Given the description of an element on the screen output the (x, y) to click on. 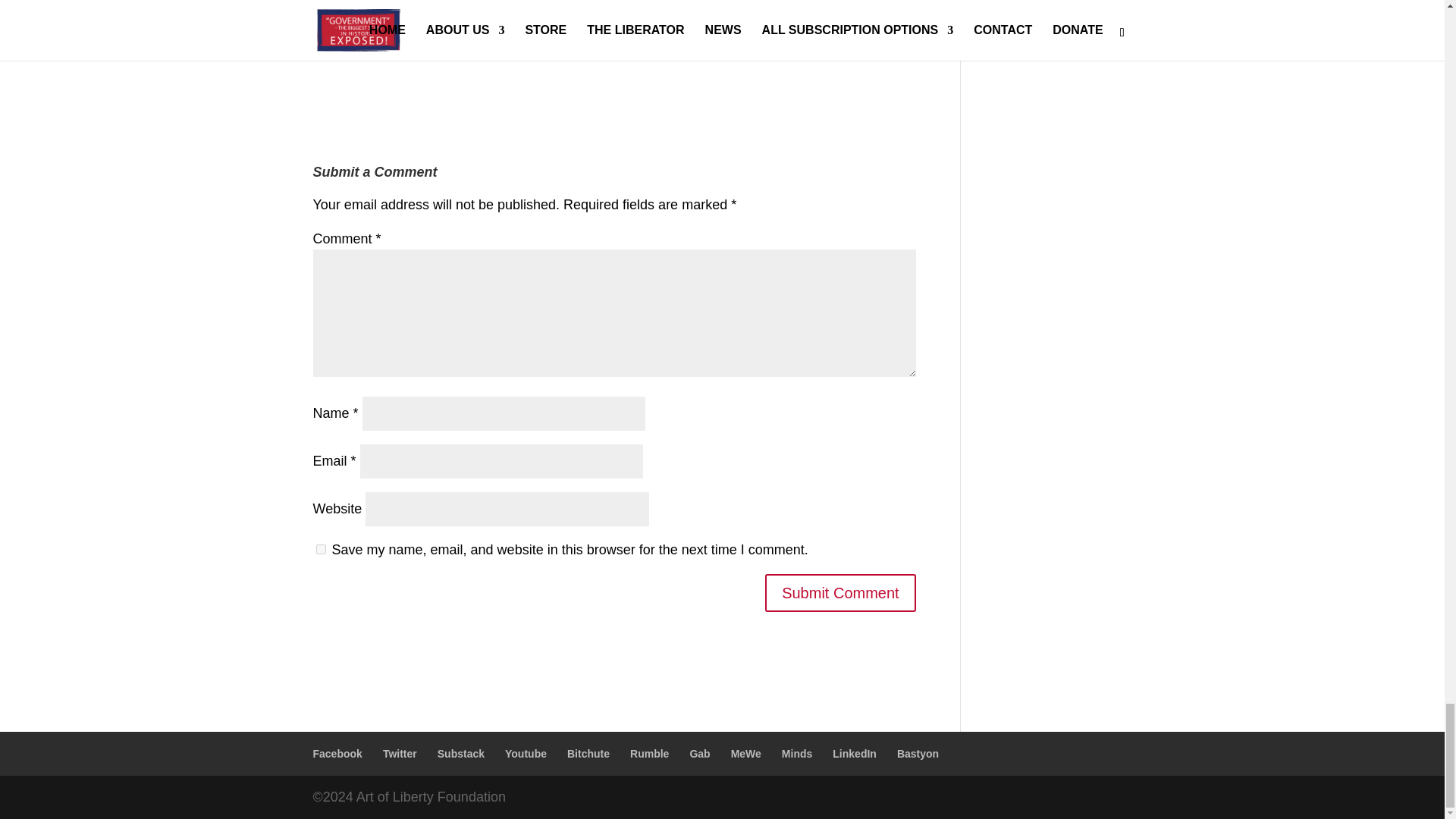
yes (319, 549)
Subscribe (461, 10)
Submit Comment (840, 592)
Submit Comment (840, 592)
